Given the description of an element on the screen output the (x, y) to click on. 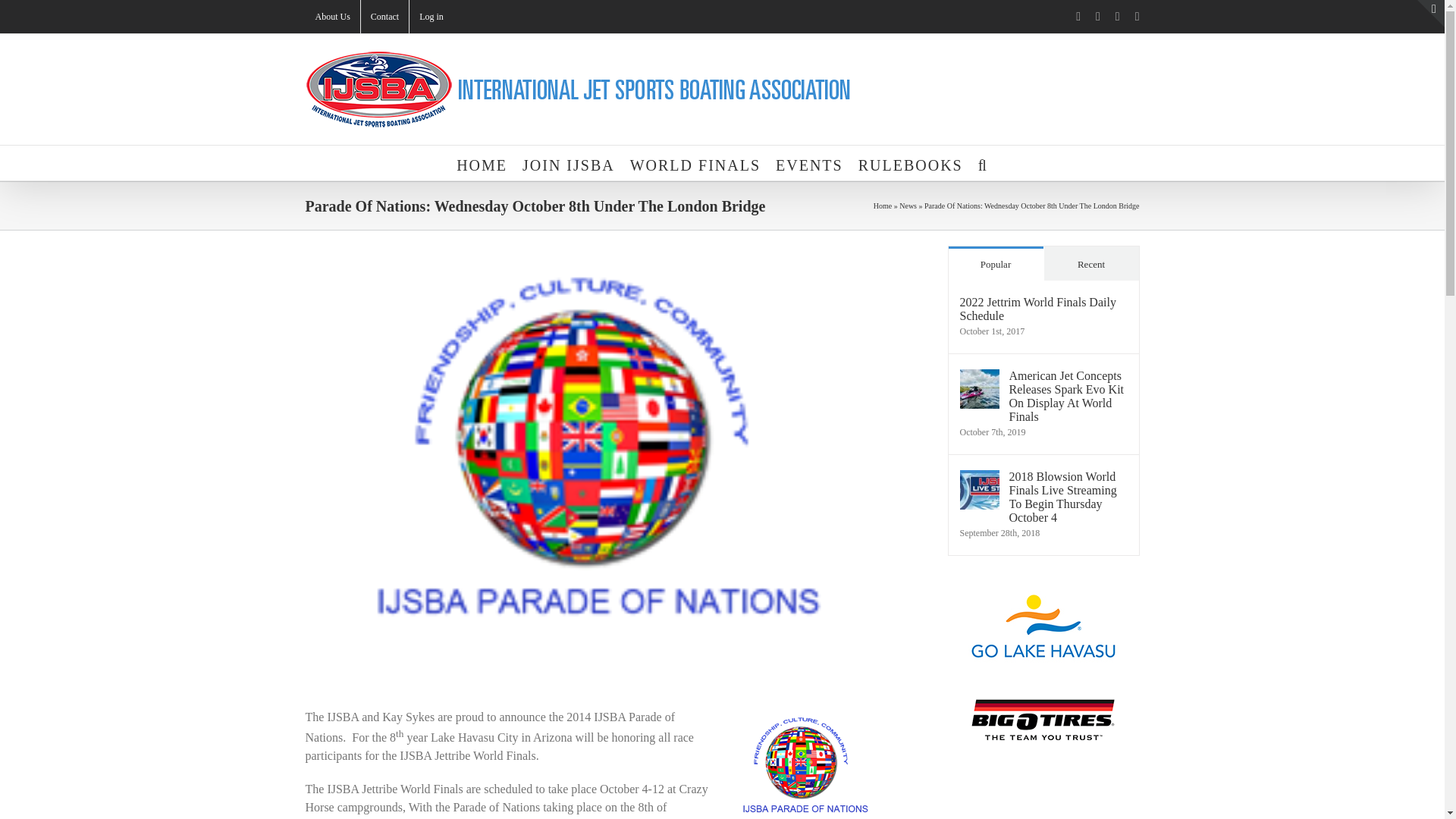
HOME (481, 162)
JOIN IJSBA (568, 162)
EVENTS (809, 162)
Log in (430, 16)
Contact (385, 16)
News (908, 205)
RULEBOOKS (910, 162)
Home (882, 205)
WORLD FINALS (695, 162)
About Us (331, 16)
